Given the description of an element on the screen output the (x, y) to click on. 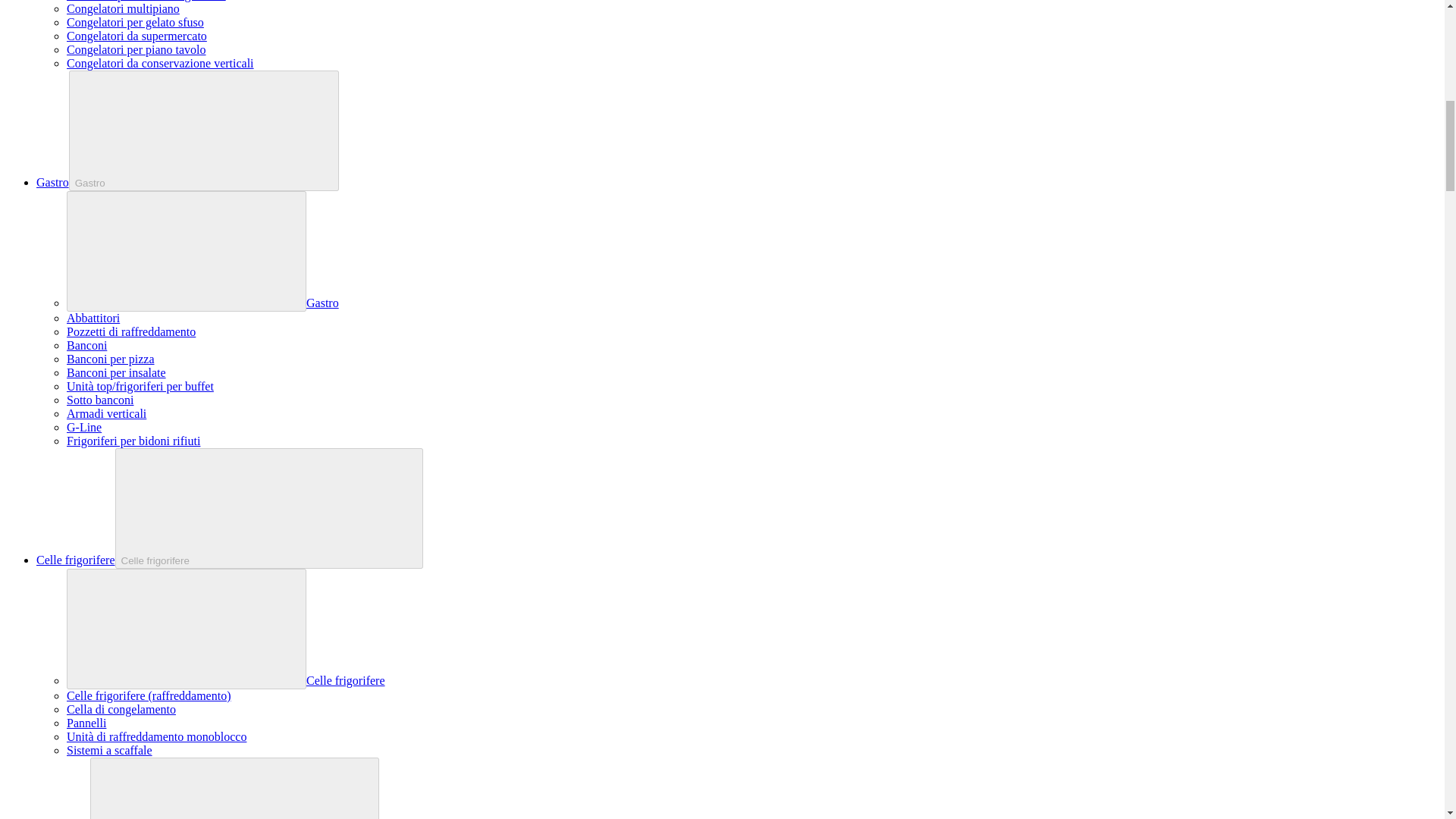
Gastro (322, 302)
Gastro (52, 182)
Congelatori da supermercato (136, 35)
Congelatori per gelato sfuso (134, 21)
Pozzetti di raffreddamento (130, 331)
Congelatori multipiano (122, 8)
Congelatori per piano tavolo (136, 49)
Congelatori da conservazione verticali (159, 62)
Abbattitori (92, 318)
